Given the description of an element on the screen output the (x, y) to click on. 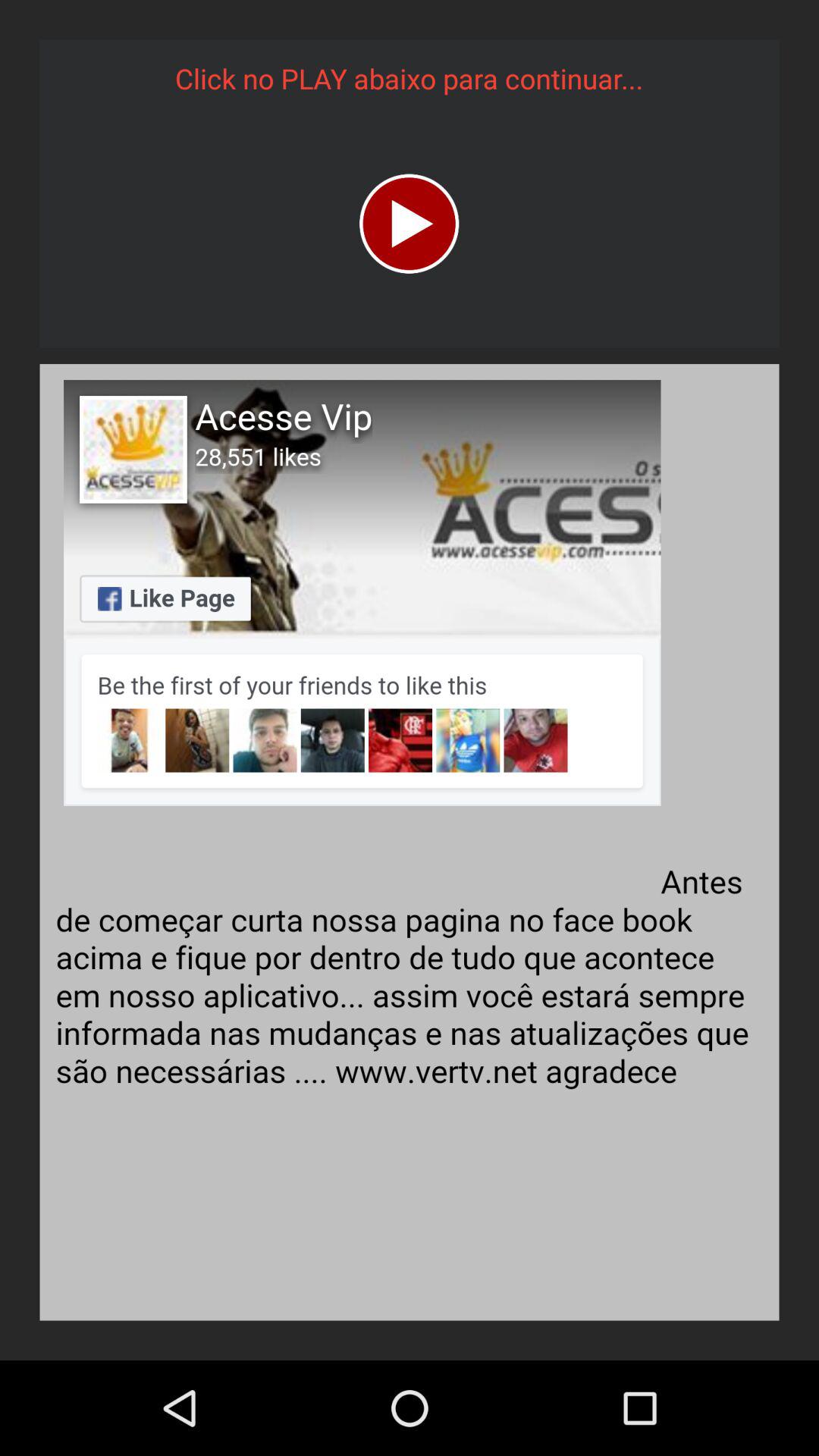
play (408, 223)
